Given the description of an element on the screen output the (x, y) to click on. 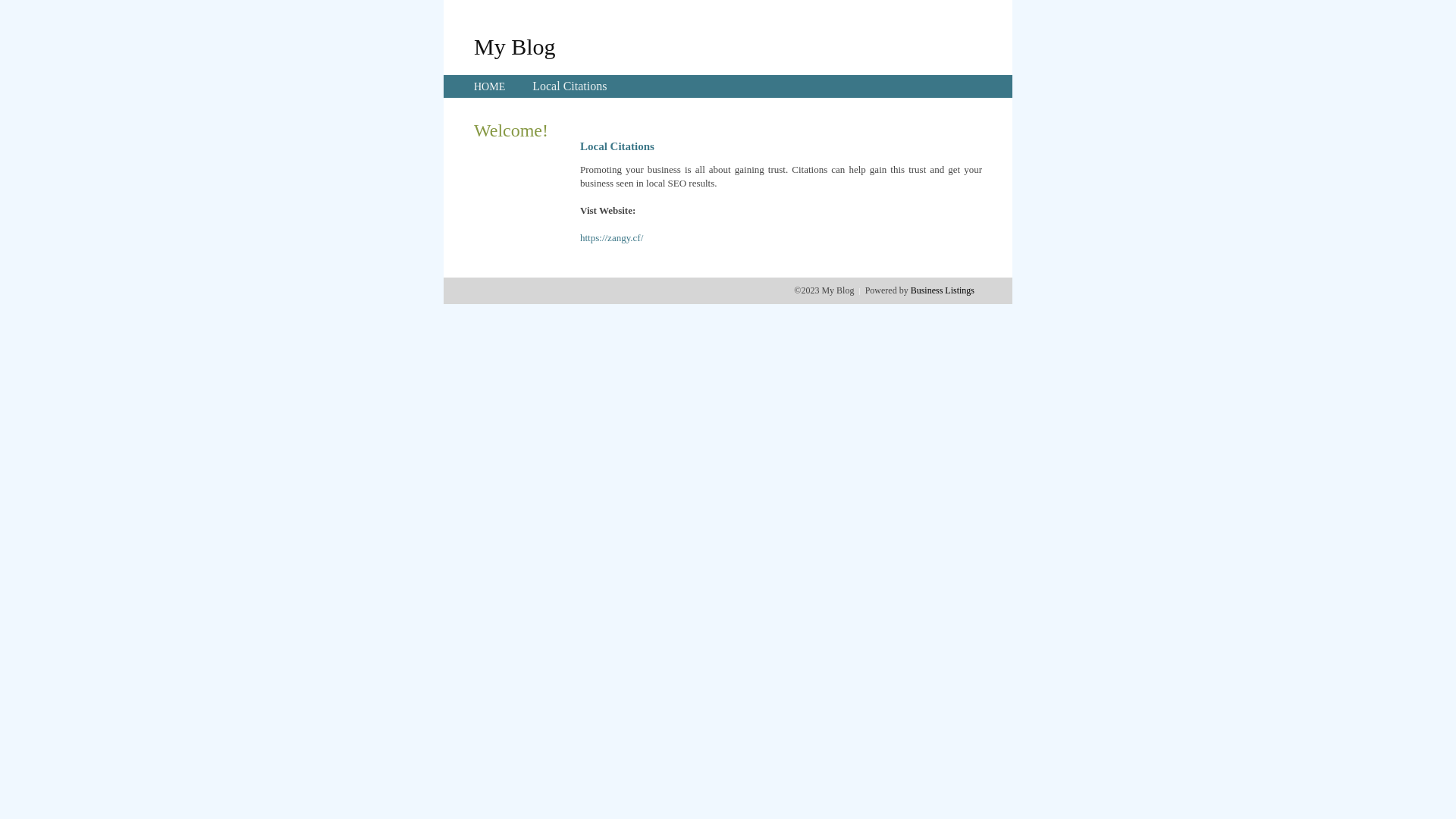
My Blog Element type: text (514, 46)
HOME Element type: text (489, 86)
Local Citations Element type: text (569, 85)
Business Listings Element type: text (942, 290)
https://zangy.cf/ Element type: text (611, 237)
